Given the description of an element on the screen output the (x, y) to click on. 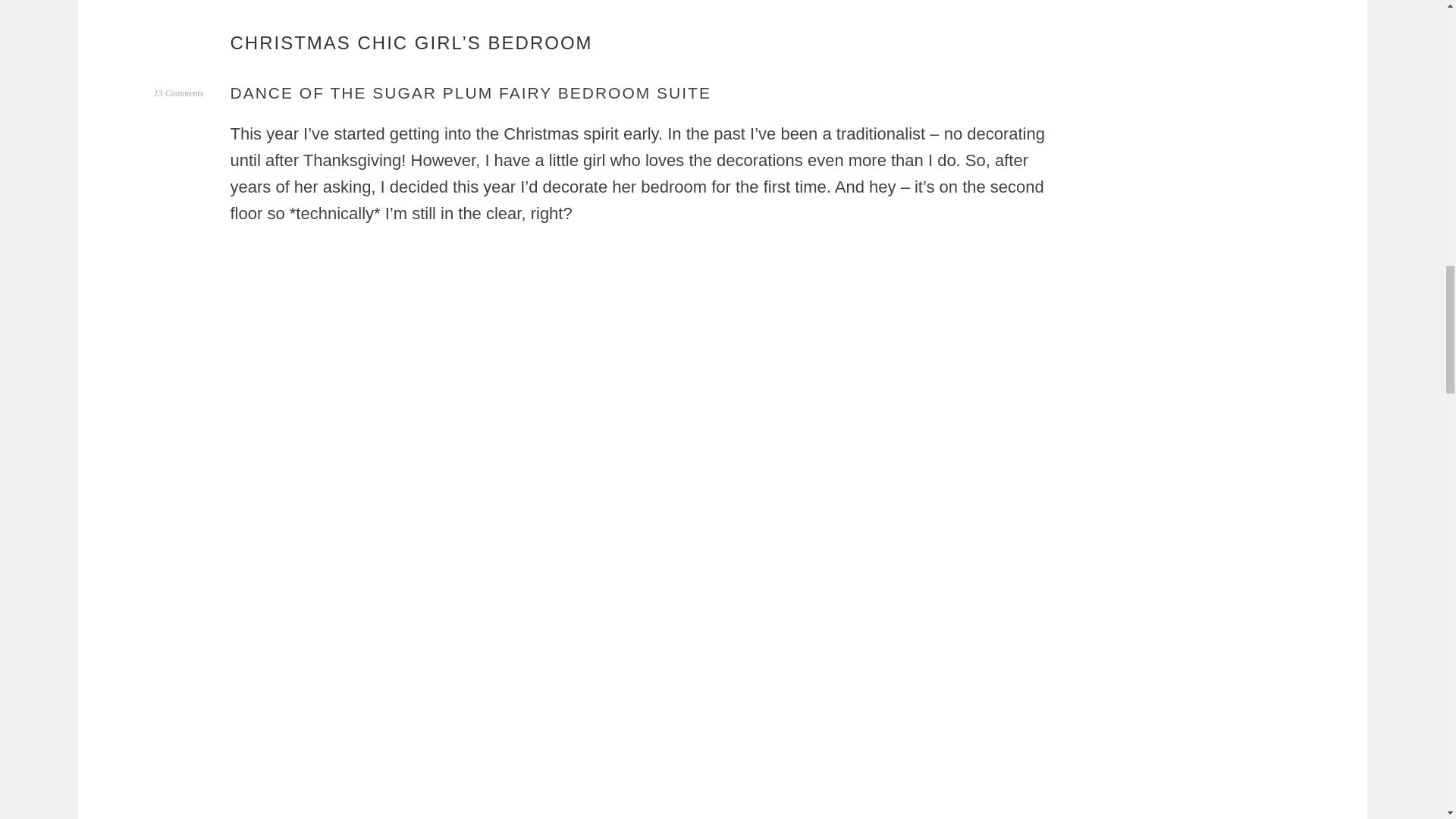
13 Comments (178, 92)
